Given the description of an element on the screen output the (x, y) to click on. 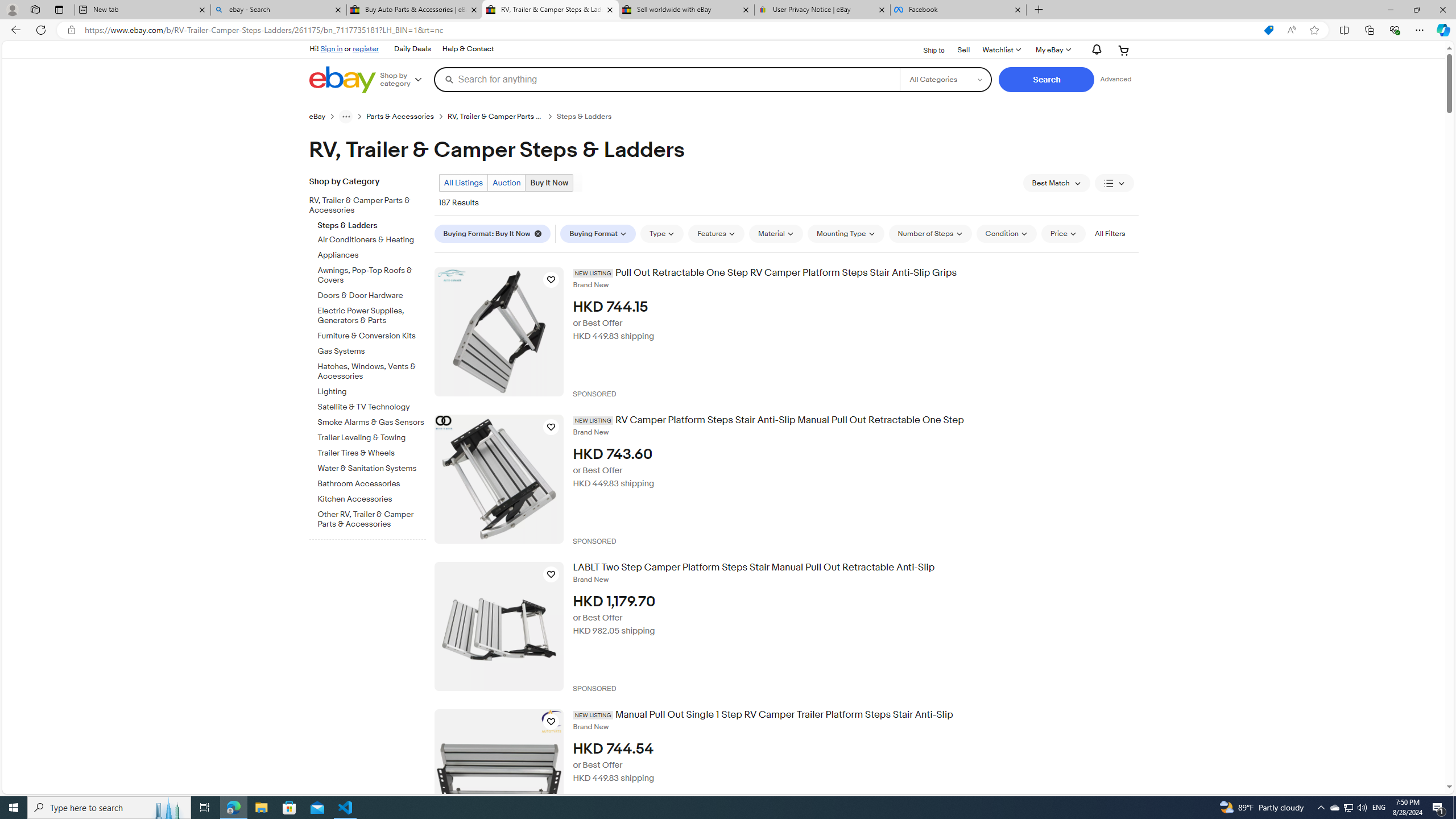
Water & Sanitation Systems (371, 466)
Buy It Now (549, 182)
Shop by category (405, 79)
Type (662, 233)
Smoke Alarms & Gas Sensors (371, 420)
Expand Cart (1123, 49)
Material (775, 233)
Awnings, Pop-Top Roofs & Covers (371, 275)
RV, Trailer & Camper Parts & Accessories (371, 203)
Parts & Accessories (407, 116)
Other RV, Trailer & Camper Parts & Accessories (371, 519)
Material (775, 233)
